Given the description of an element on the screen output the (x, y) to click on. 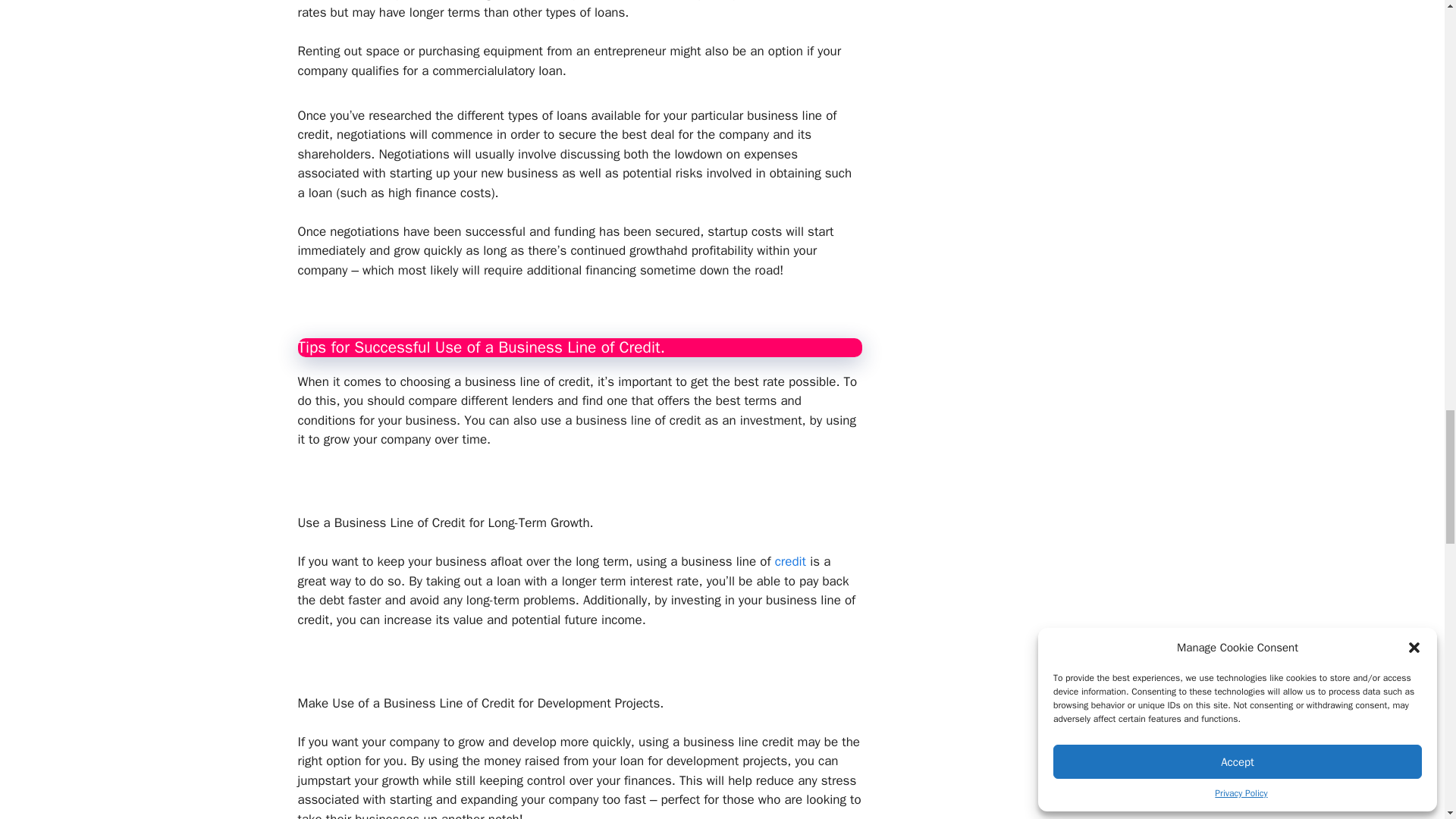
credit (790, 561)
